Given the description of an element on the screen output the (x, y) to click on. 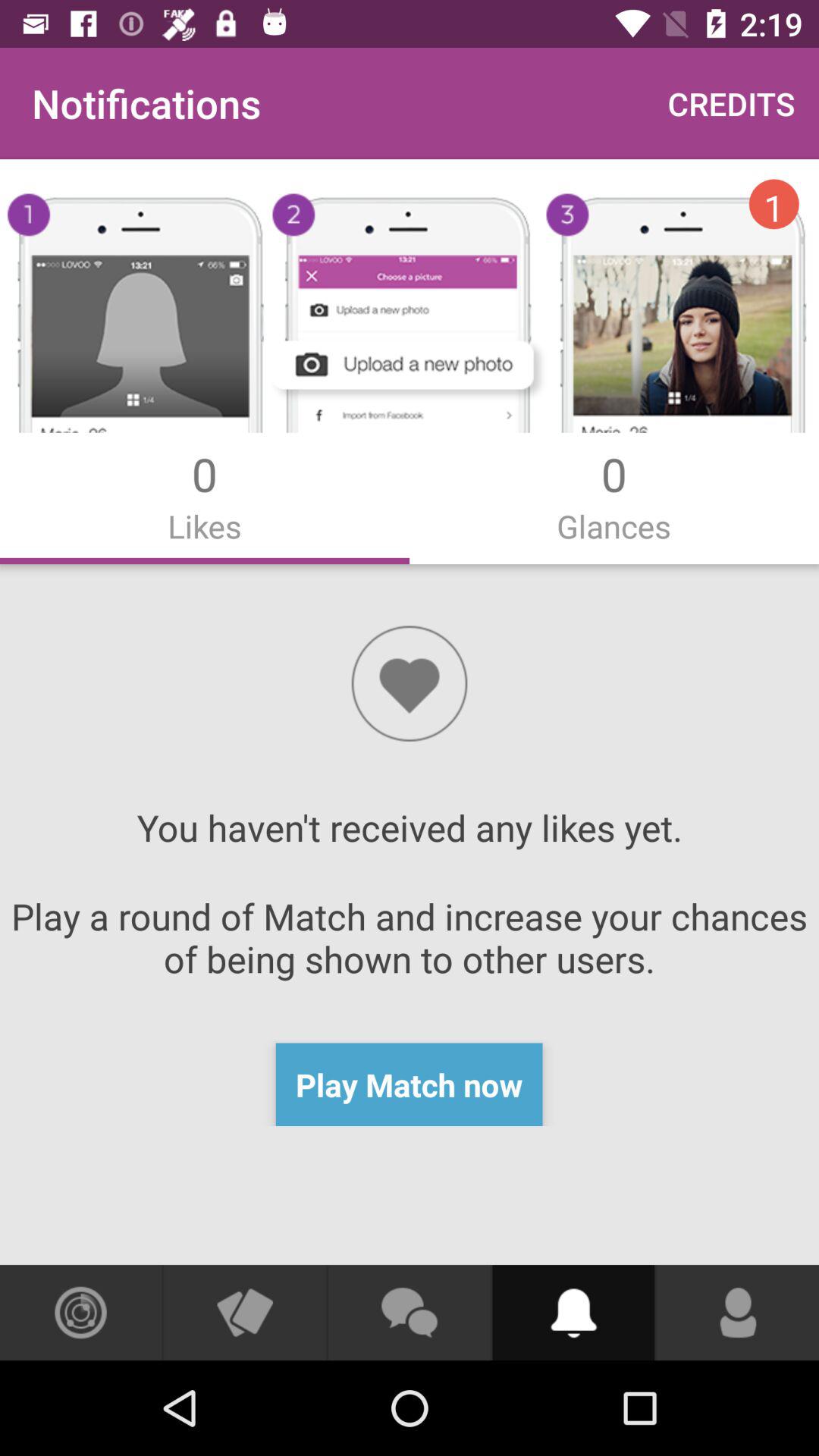
turn on the app to the right of the notifications app (731, 103)
